Given the description of an element on the screen output the (x, y) to click on. 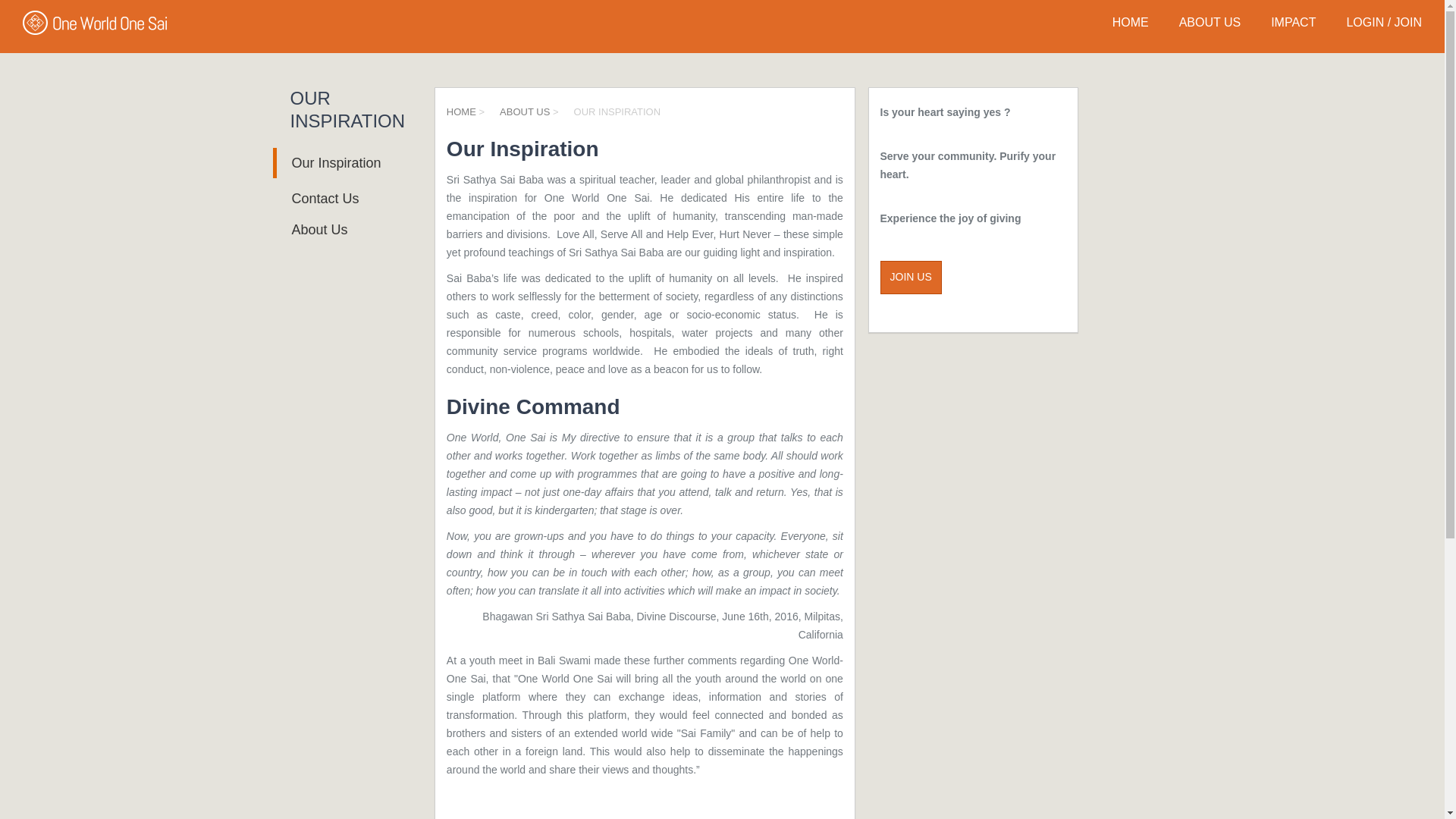
ABOUT US (524, 111)
JOIN US (909, 277)
Contact Us (317, 198)
HOME (1130, 22)
HOME (461, 111)
IMPACT (1292, 22)
About Us (311, 229)
One World One Sai (95, 23)
ABOUT US (1209, 22)
Our Inspiration (327, 163)
